Given the description of an element on the screen output the (x, y) to click on. 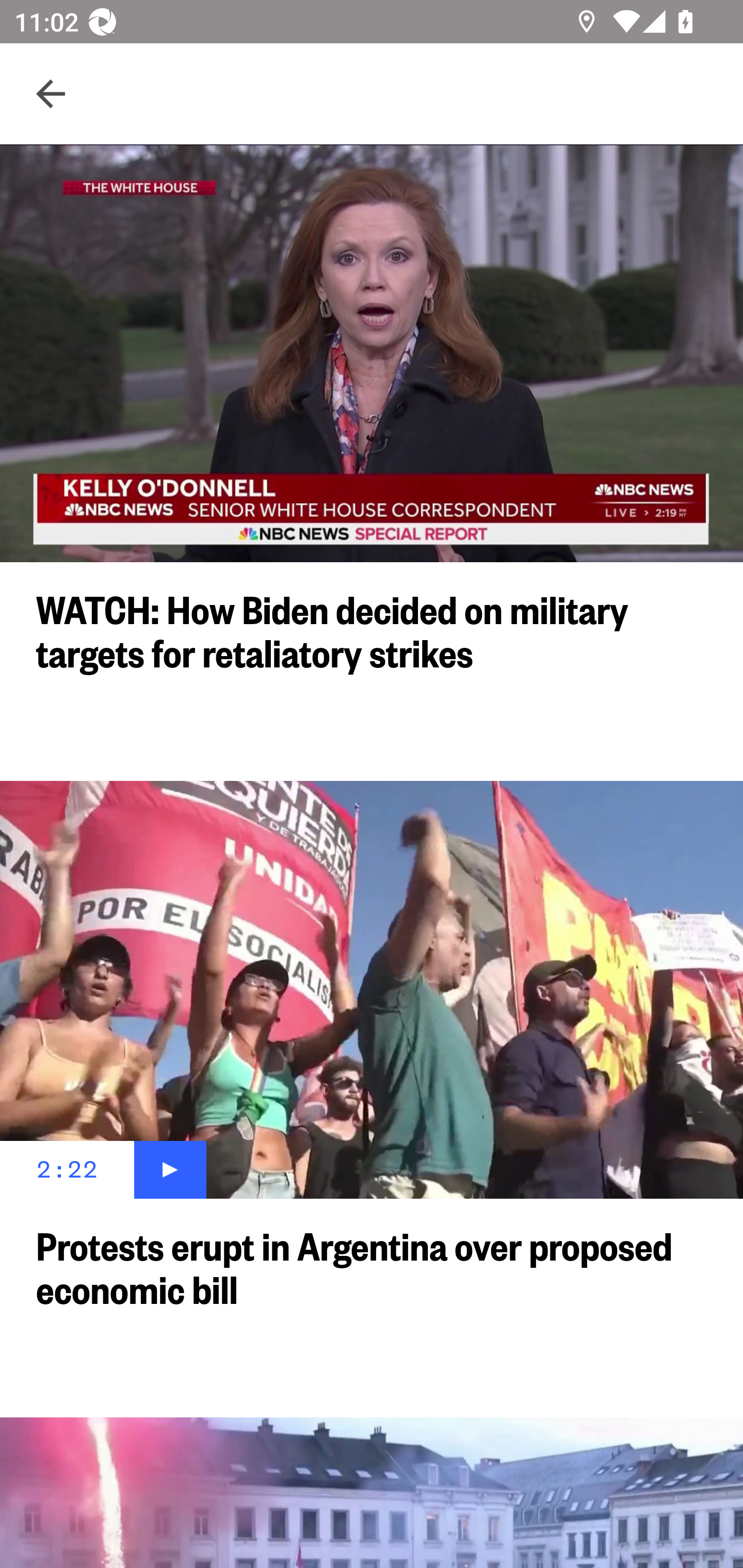
Navigate up (50, 93)
